Given the description of an element on the screen output the (x, y) to click on. 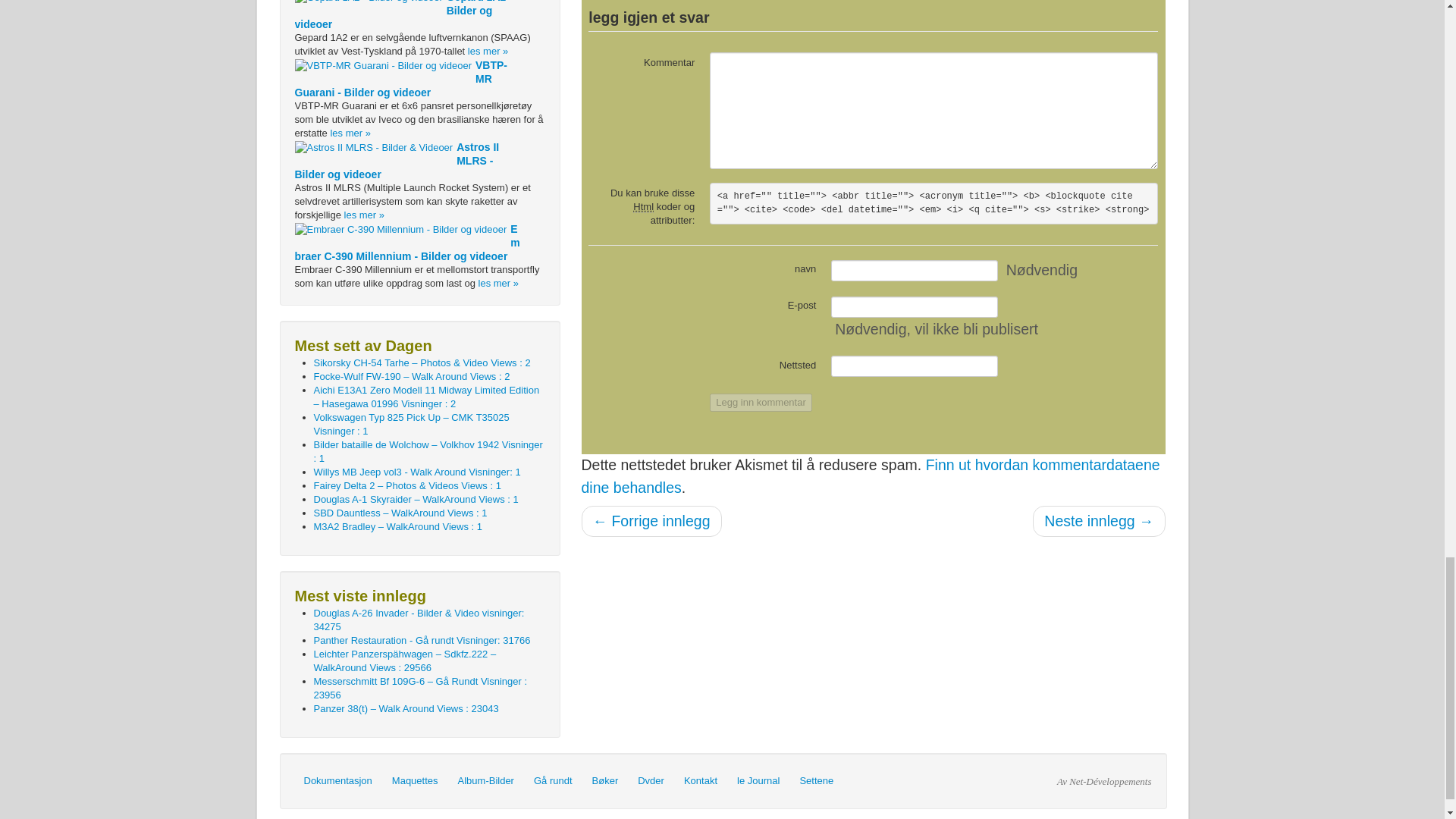
Legg inn kommentar (761, 402)
